Given the description of an element on the screen output the (x, y) to click on. 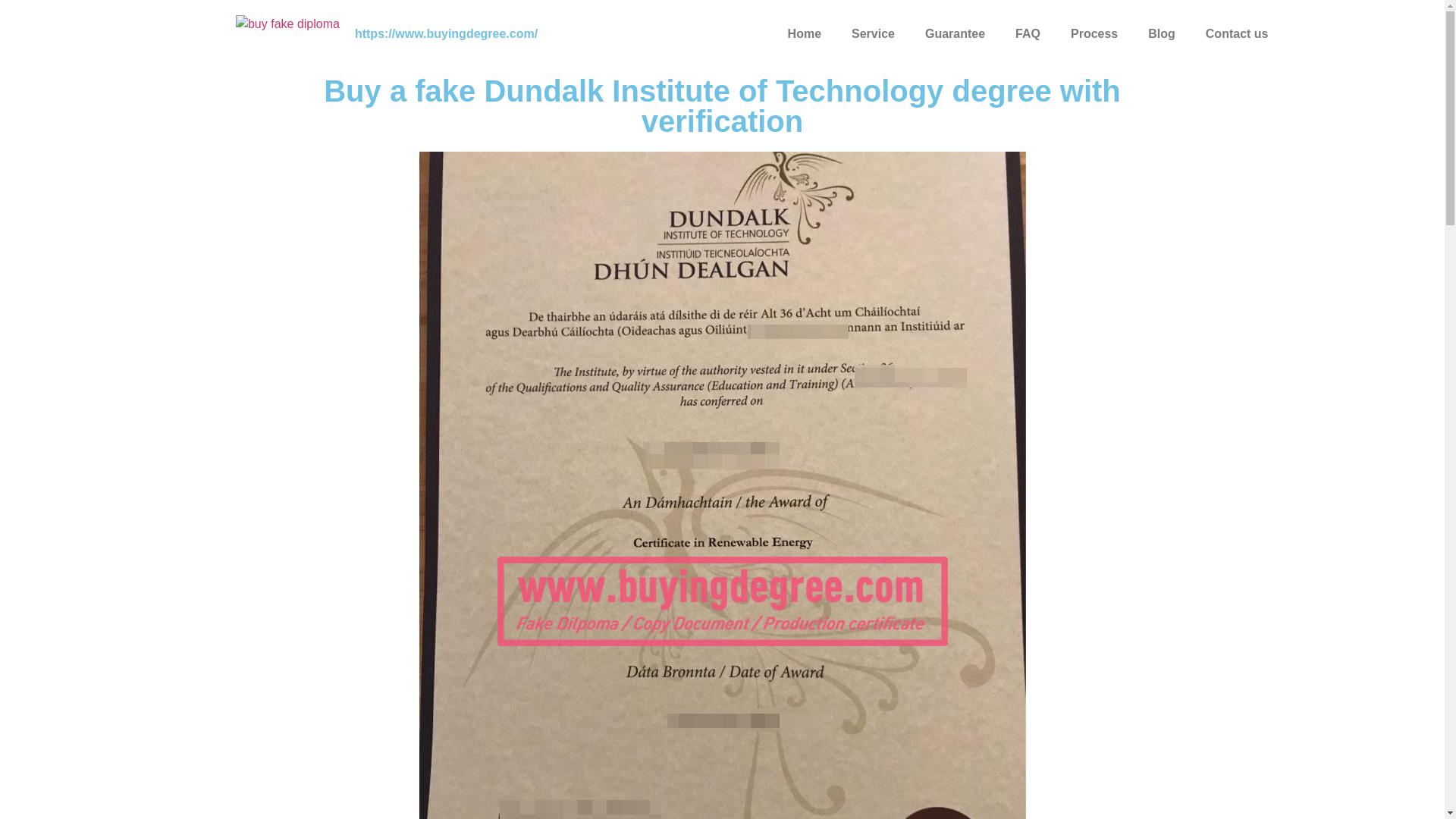
Blog (1161, 33)
buy fake diploma (287, 34)
FAQ (1027, 33)
Process (1093, 33)
Service (872, 33)
Guarantee (955, 33)
Contact us (1237, 33)
Home (804, 33)
